Given the description of an element on the screen output the (x, y) to click on. 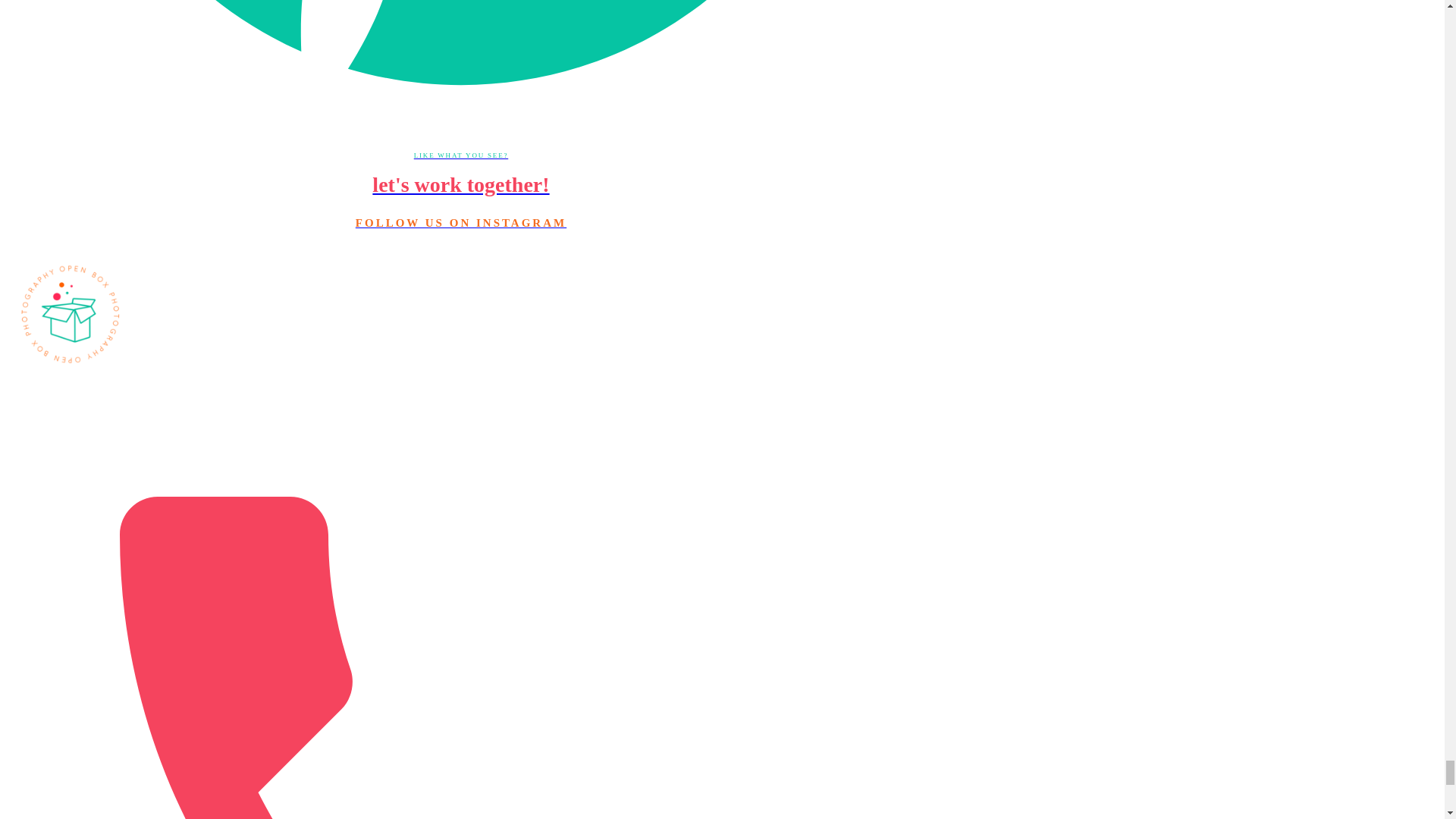
let's work together! (460, 184)
